Given the description of an element on the screen output the (x, y) to click on. 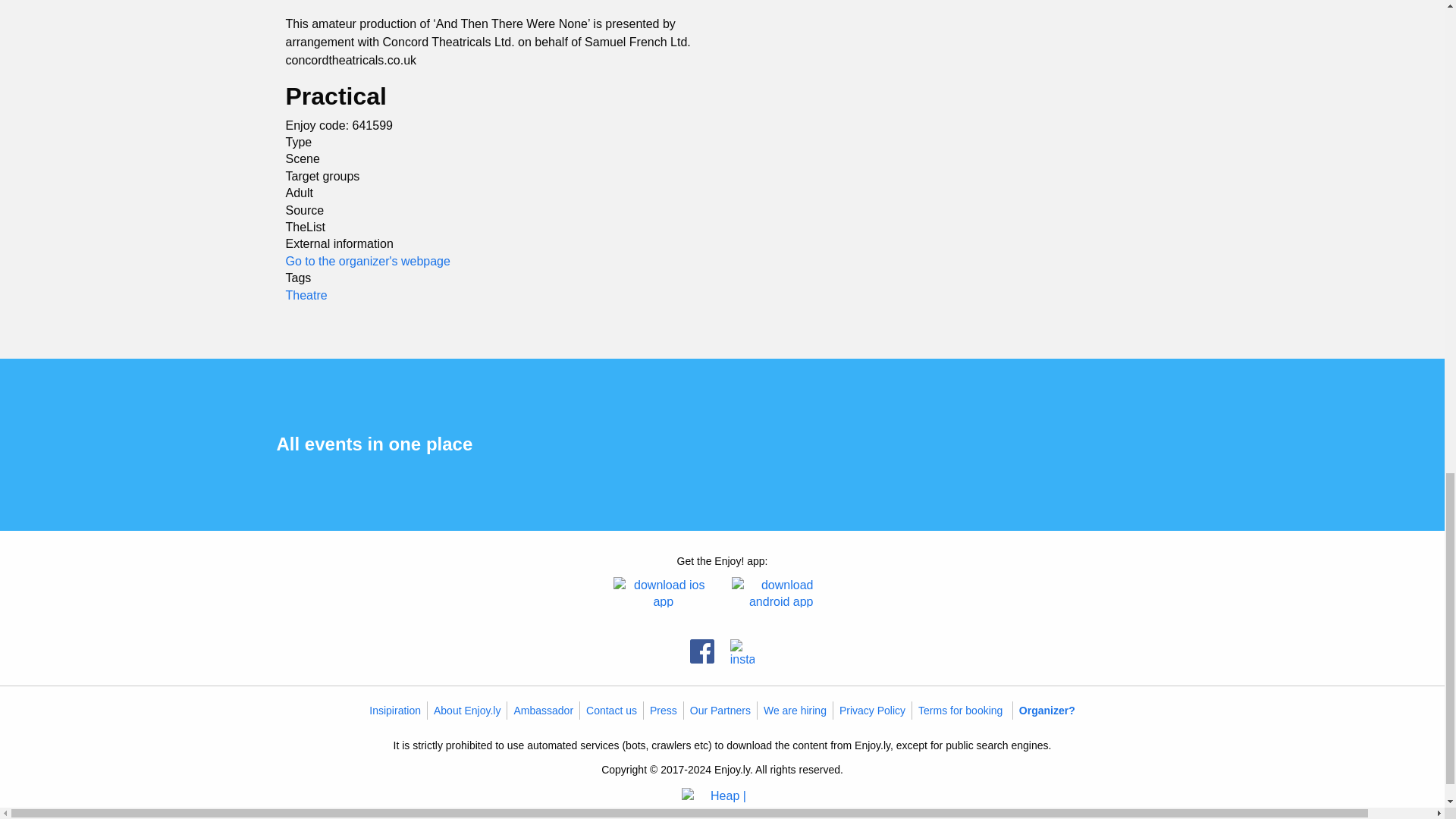
Contact us (611, 710)
Insipiration (394, 710)
Ambassador (543, 710)
Terms for booking (960, 710)
Our Partners (720, 710)
Organizer? (1047, 710)
Press (663, 710)
We are hiring (794, 710)
Privacy Policy (872, 710)
Theatre (305, 294)
